Given the description of an element on the screen output the (x, y) to click on. 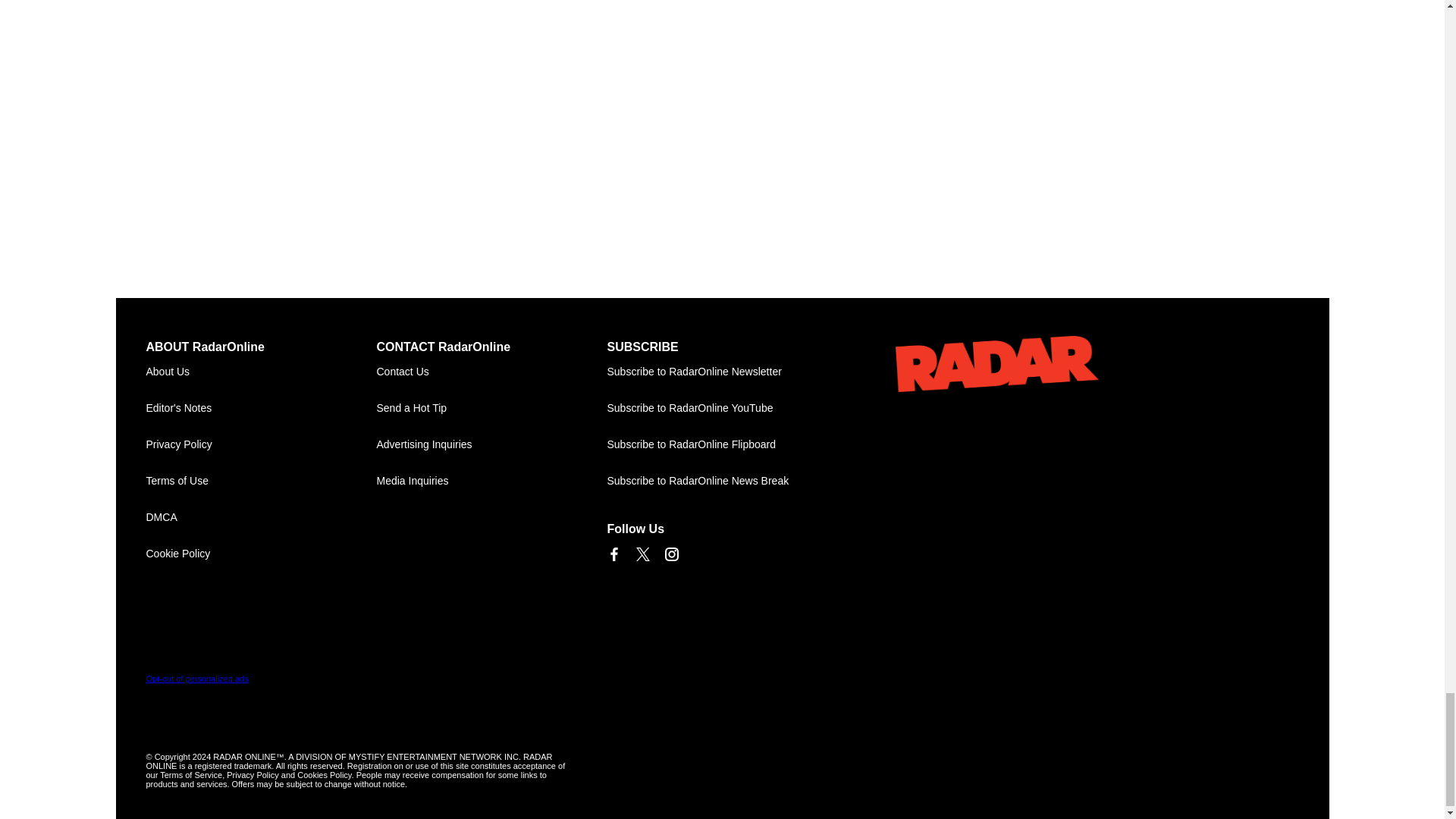
Media Inquiries (491, 481)
About Us (260, 371)
Editor's Notes (260, 408)
Privacy Policy (260, 444)
Send a Hot Tip (491, 408)
Link to Facebook (613, 554)
Contact Us (491, 371)
Advertising Inquiries (491, 444)
Cookie Policy (260, 554)
Link to X (641, 554)
